Given the description of an element on the screen output the (x, y) to click on. 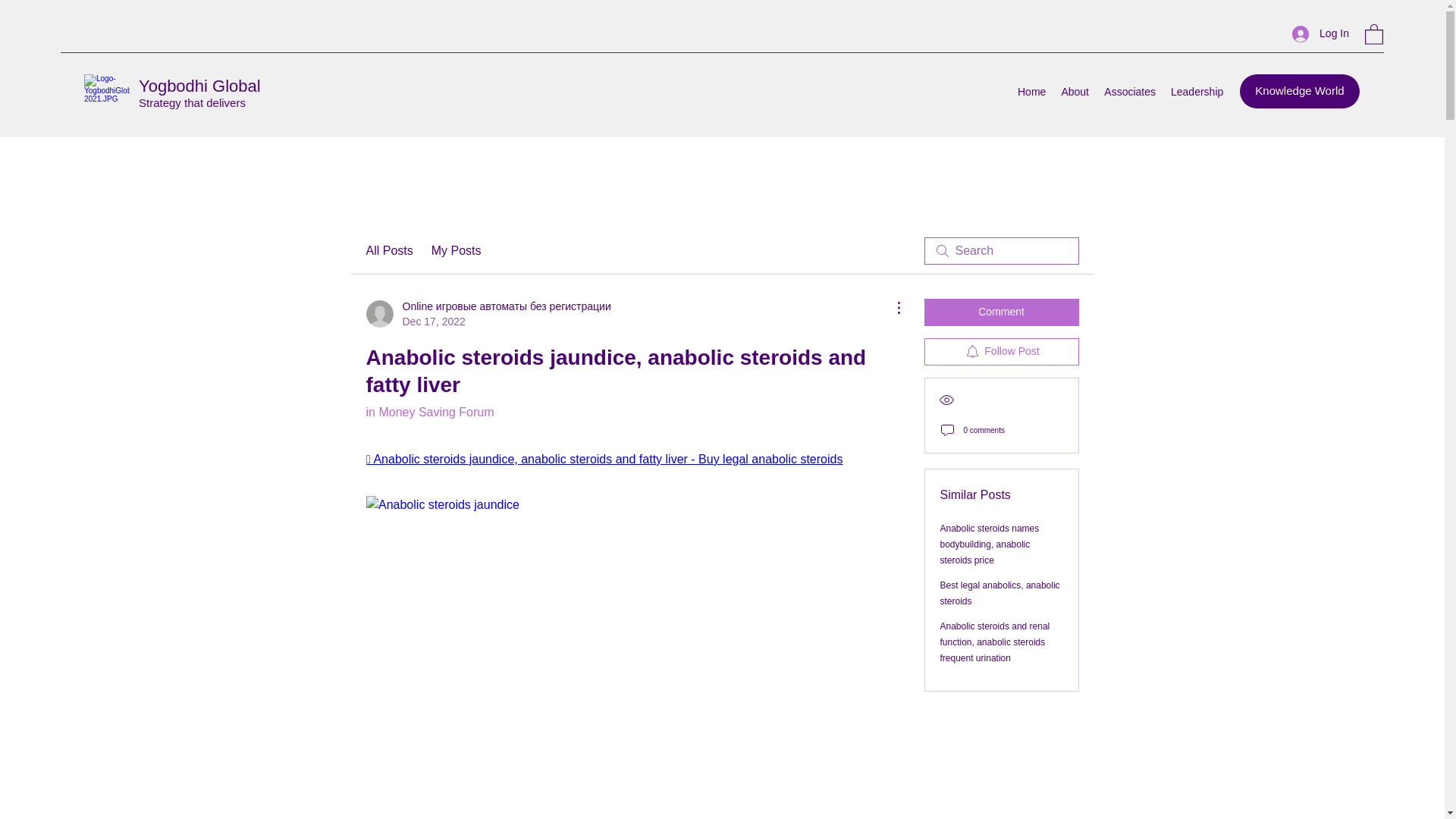
Comment (1000, 311)
Log In (1320, 33)
About (1074, 91)
Knowledge World (1299, 91)
Leadership (1196, 91)
Yogbodhi Global (199, 85)
All Posts (388, 250)
Home (1031, 91)
Associates (1129, 91)
Best legal anabolics, anabolic steroids (999, 592)
in Money Saving Forum (429, 411)
Follow Post (1000, 351)
My Posts (455, 250)
